Given the description of an element on the screen output the (x, y) to click on. 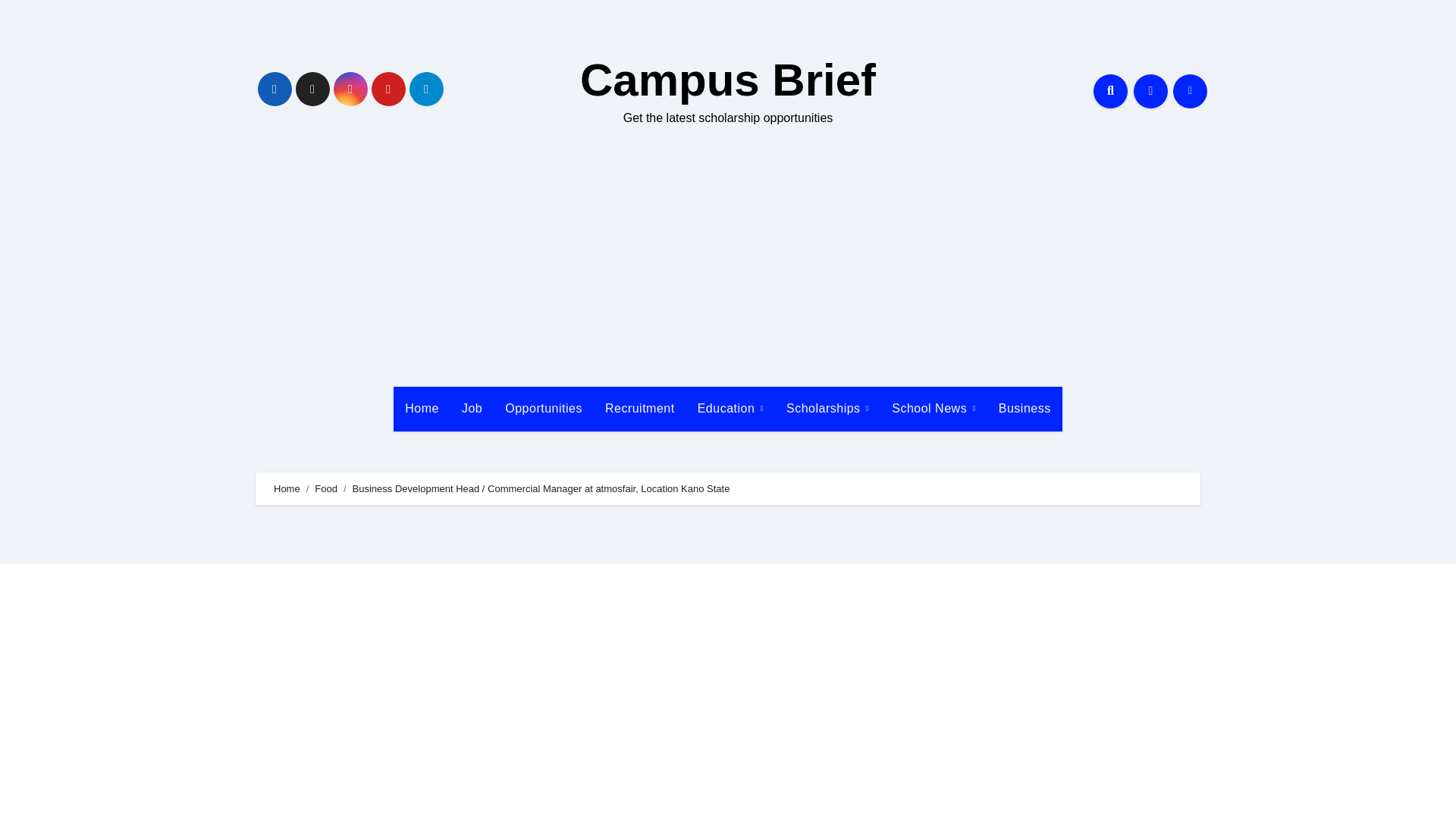
Opportunities (543, 408)
Recruitment (639, 408)
Campus Brief (727, 79)
Education (729, 408)
Food (325, 488)
Home (421, 408)
School News (933, 408)
Job (471, 408)
Business (1024, 408)
Education (729, 408)
Scholarships (827, 408)
Recruitment (639, 408)
Home (421, 408)
School News (933, 408)
Opportunities (543, 408)
